Given the description of an element on the screen output the (x, y) to click on. 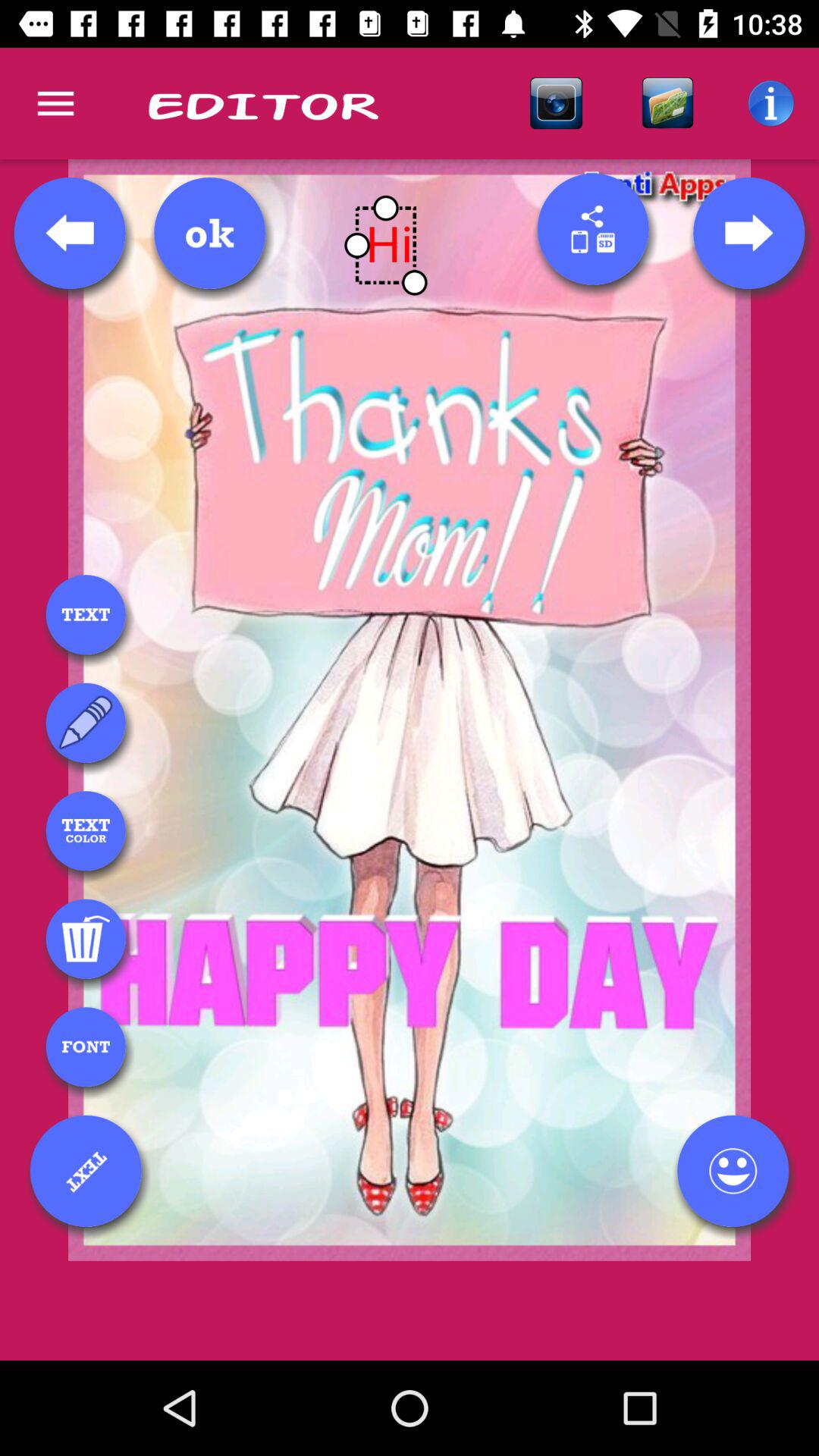
use drawing tool (85, 722)
